Given the description of an element on the screen output the (x, y) to click on. 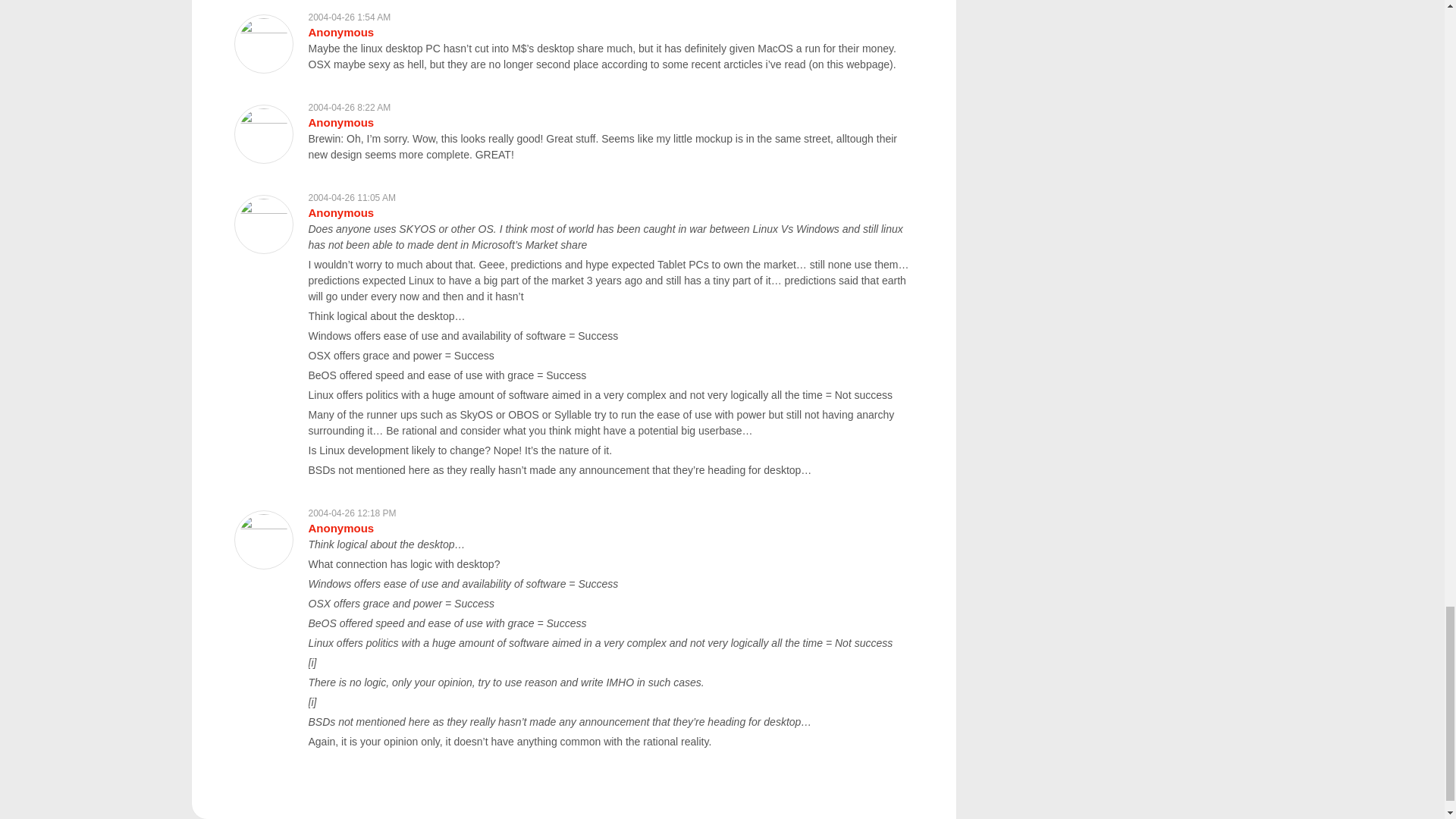
Anonymous (340, 122)
Anonymous (340, 527)
Anonymous (340, 31)
Anonymous (340, 212)
